Given the description of an element on the screen output the (x, y) to click on. 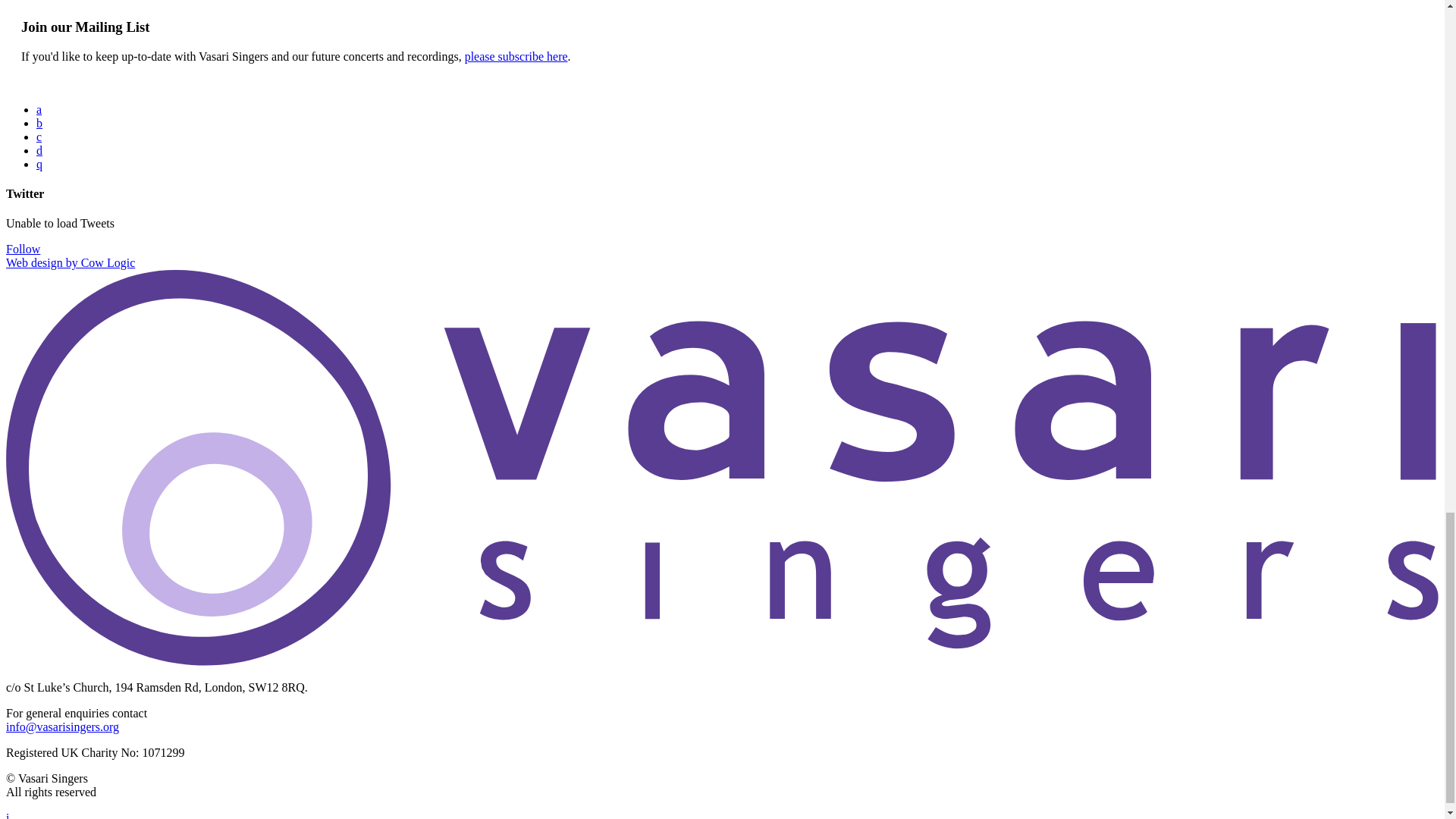
Follow (22, 248)
please subscribe here (515, 56)
Web design by Cow Logic (70, 262)
